Given the description of an element on the screen output the (x, y) to click on. 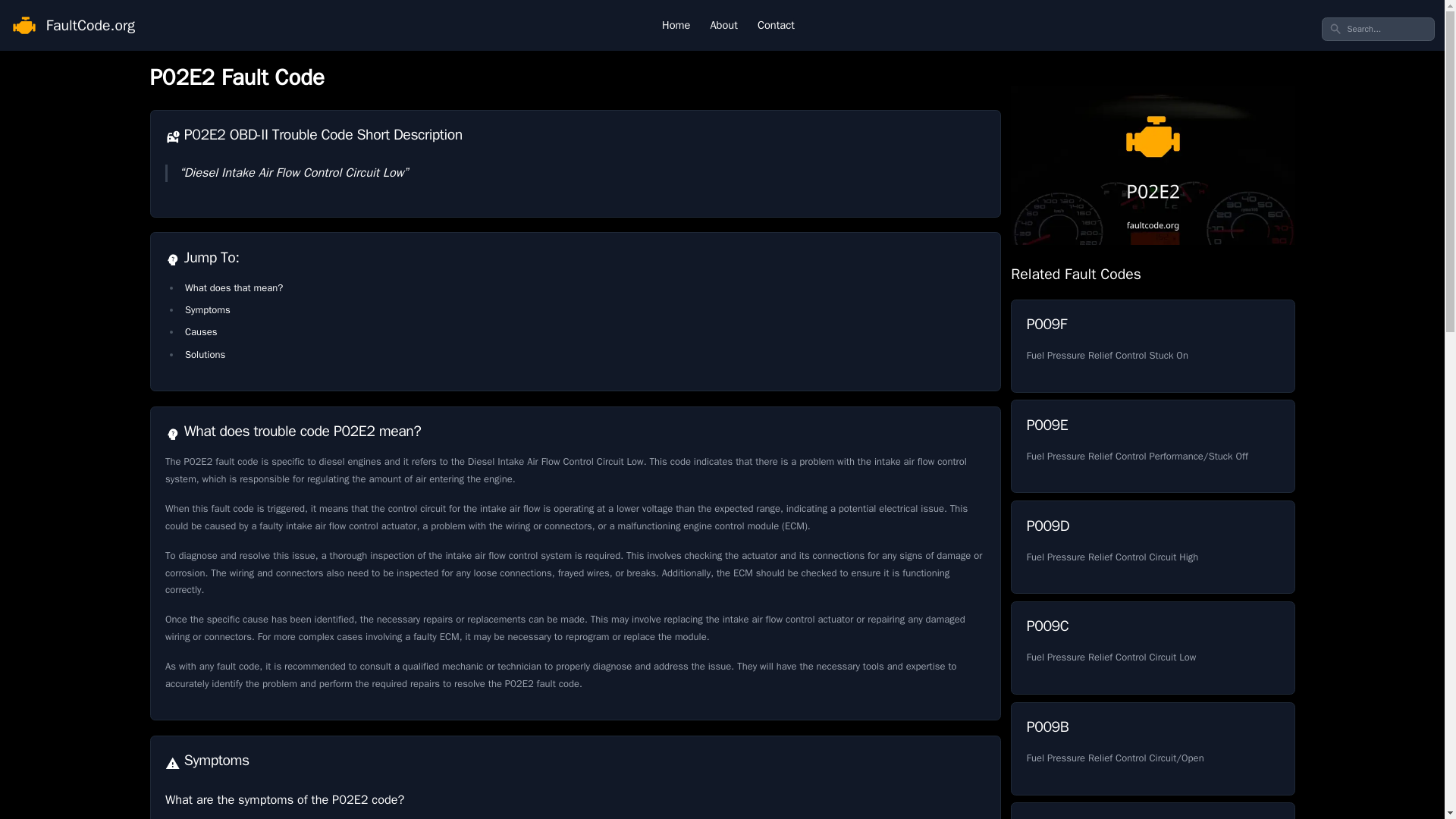
Solutions (204, 354)
About (723, 25)
P009A (1152, 810)
P009D (1152, 546)
What does that mean? (233, 287)
P009B (1152, 748)
Symptoms (1152, 647)
P009C (207, 309)
FaultCode.org (1152, 647)
